Given the description of an element on the screen output the (x, y) to click on. 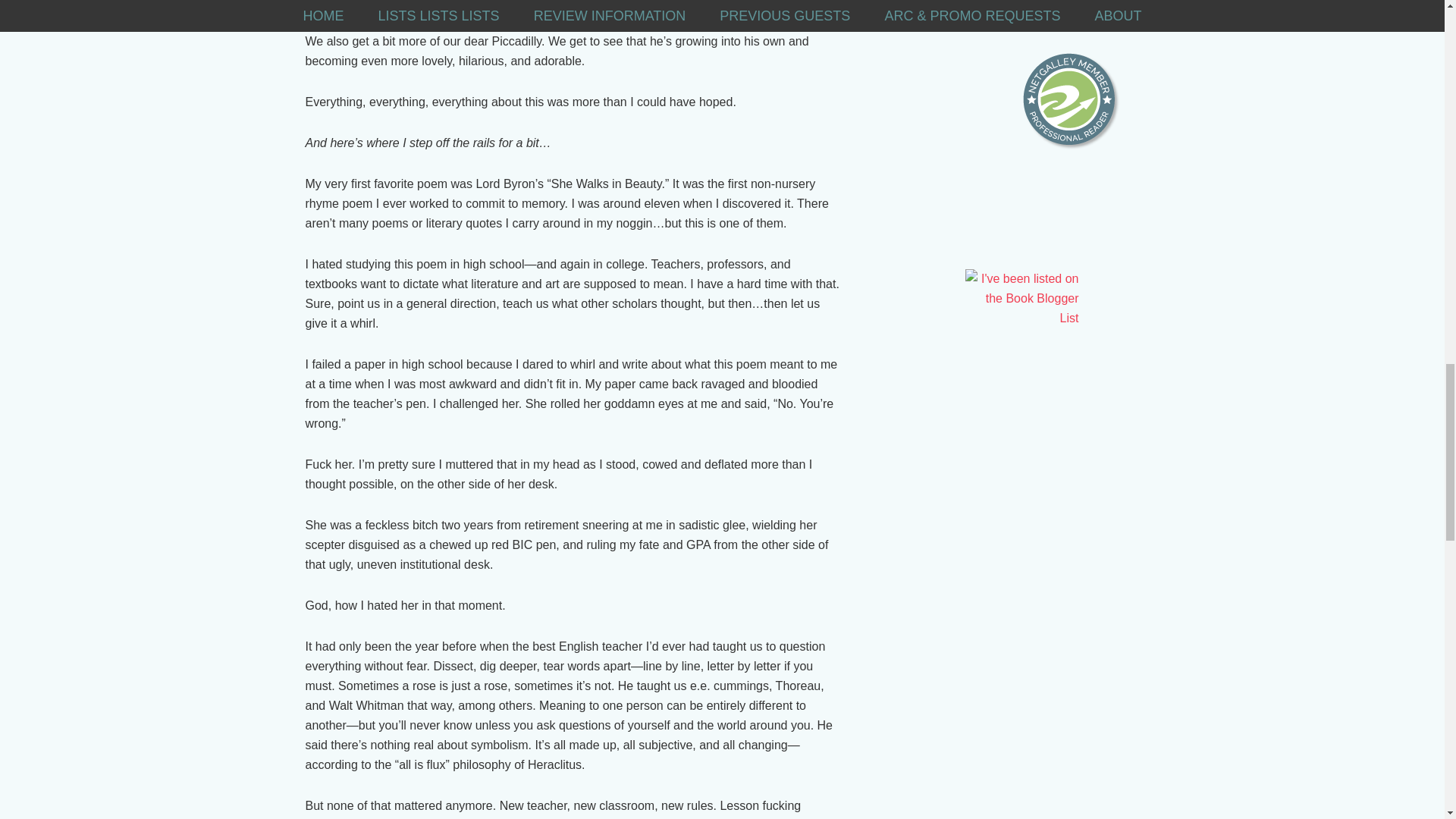
NetGalley Reader Badge (1071, 101)
